Given the description of an element on the screen output the (x, y) to click on. 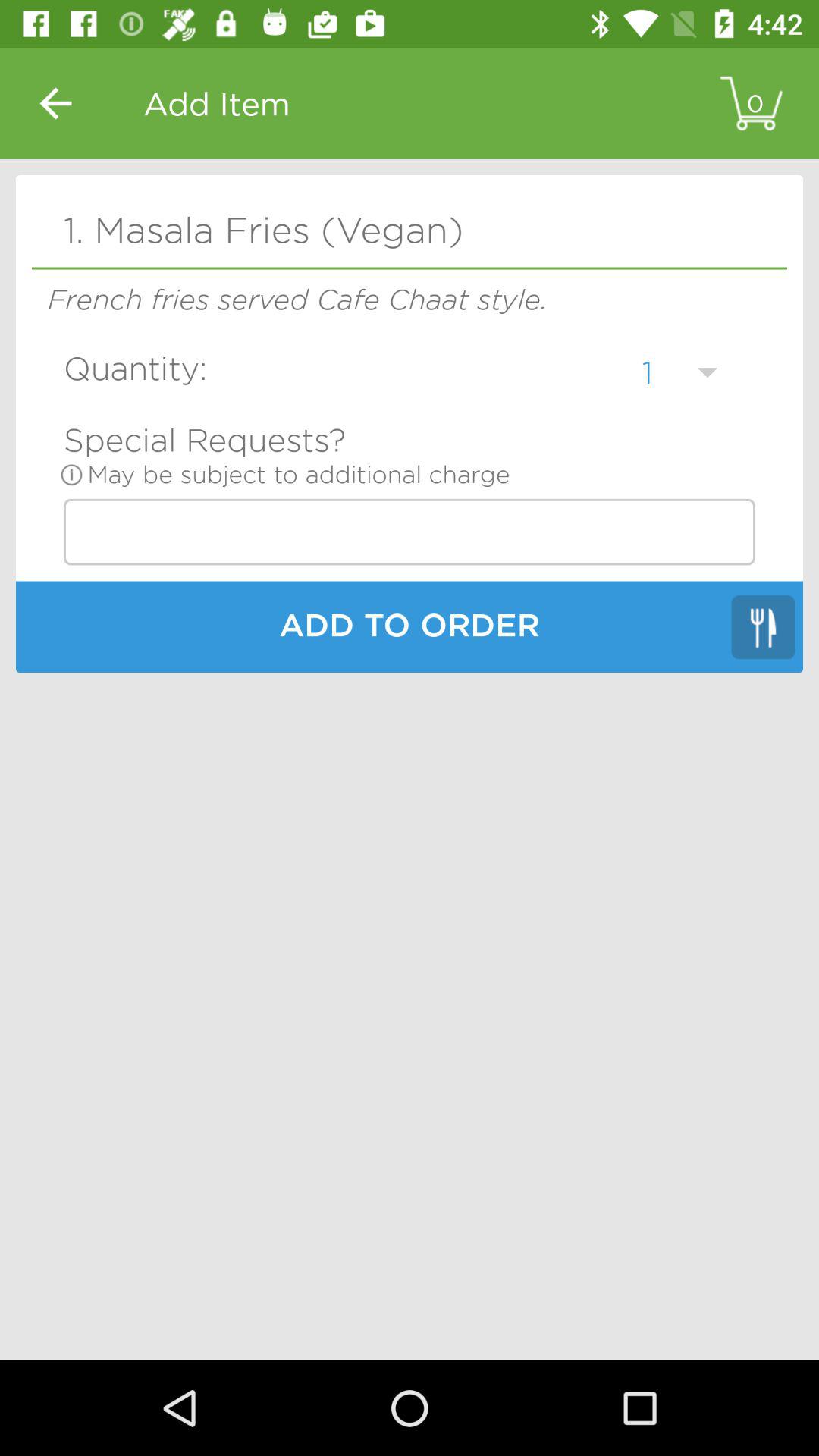
swipe until add to order (409, 628)
